Given the description of an element on the screen output the (x, y) to click on. 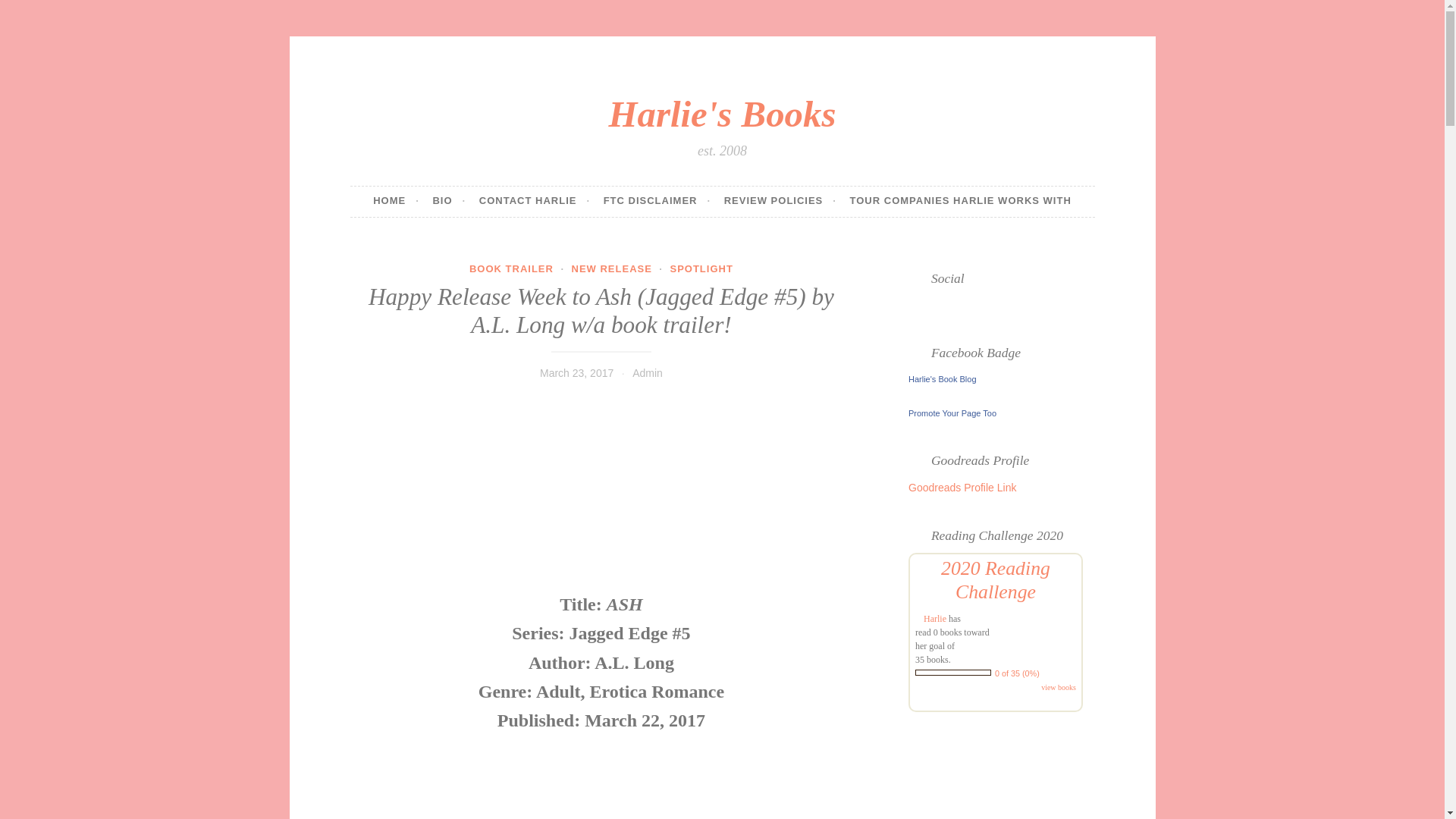
SPOTLIGHT (700, 268)
Harlie's Book Blog (942, 379)
HOME (395, 201)
FTC DISCLAIMER (657, 201)
NEW RELEASE (612, 268)
REVIEW POLICIES (779, 201)
March 23, 2017 (576, 372)
BIO (448, 201)
BOOK TRAILER (510, 268)
TOUR COMPANIES HARLIE WORKS WITH (960, 201)
Make your own badge! (951, 412)
CONTACT HARLIE (534, 201)
Harlie's Books (721, 114)
Admin (646, 372)
